Given the description of an element on the screen output the (x, y) to click on. 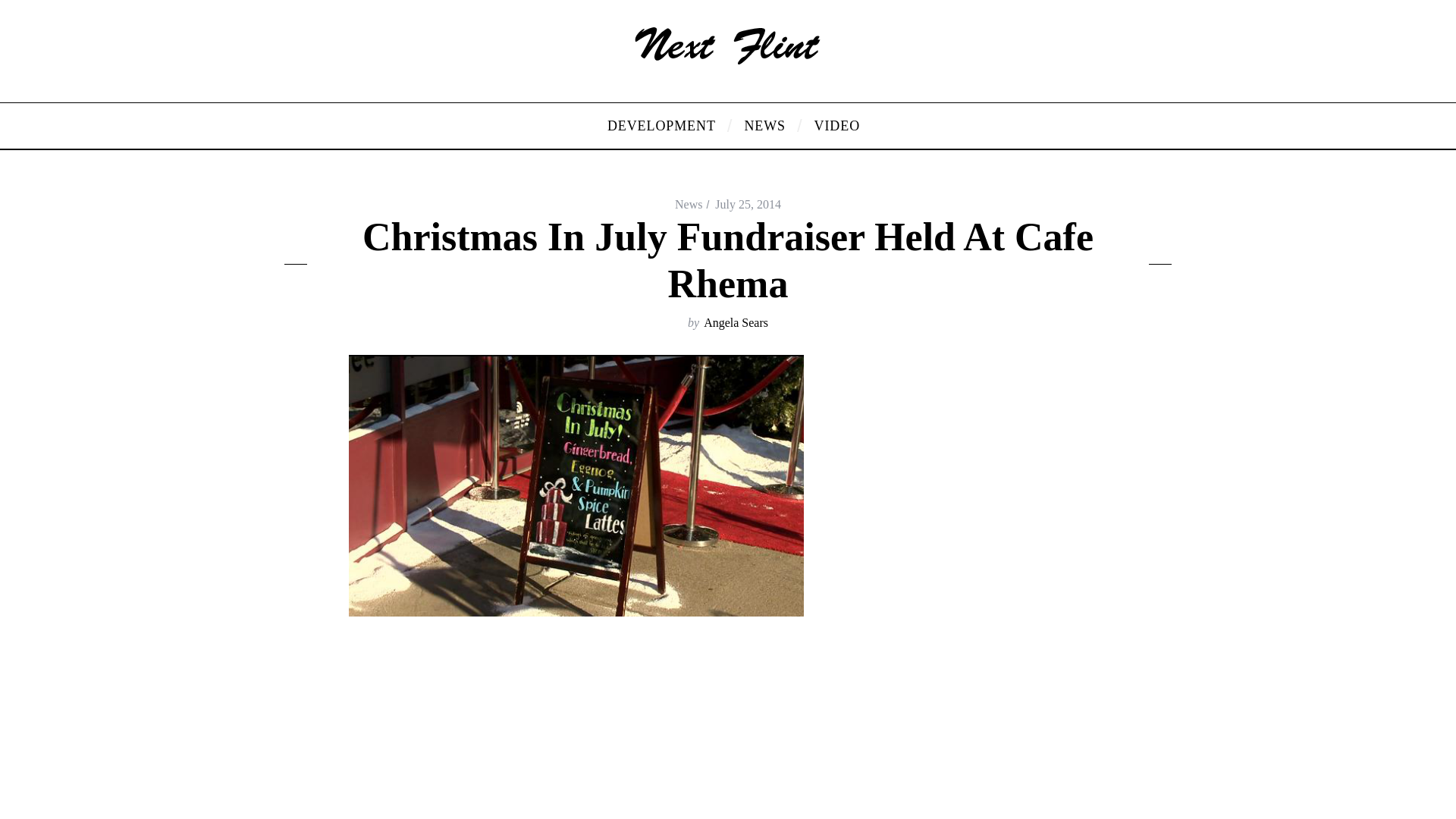
NEWS (767, 125)
VIDEO (831, 125)
Angela Sears (735, 322)
News (688, 204)
